Given the description of an element on the screen output the (x, y) to click on. 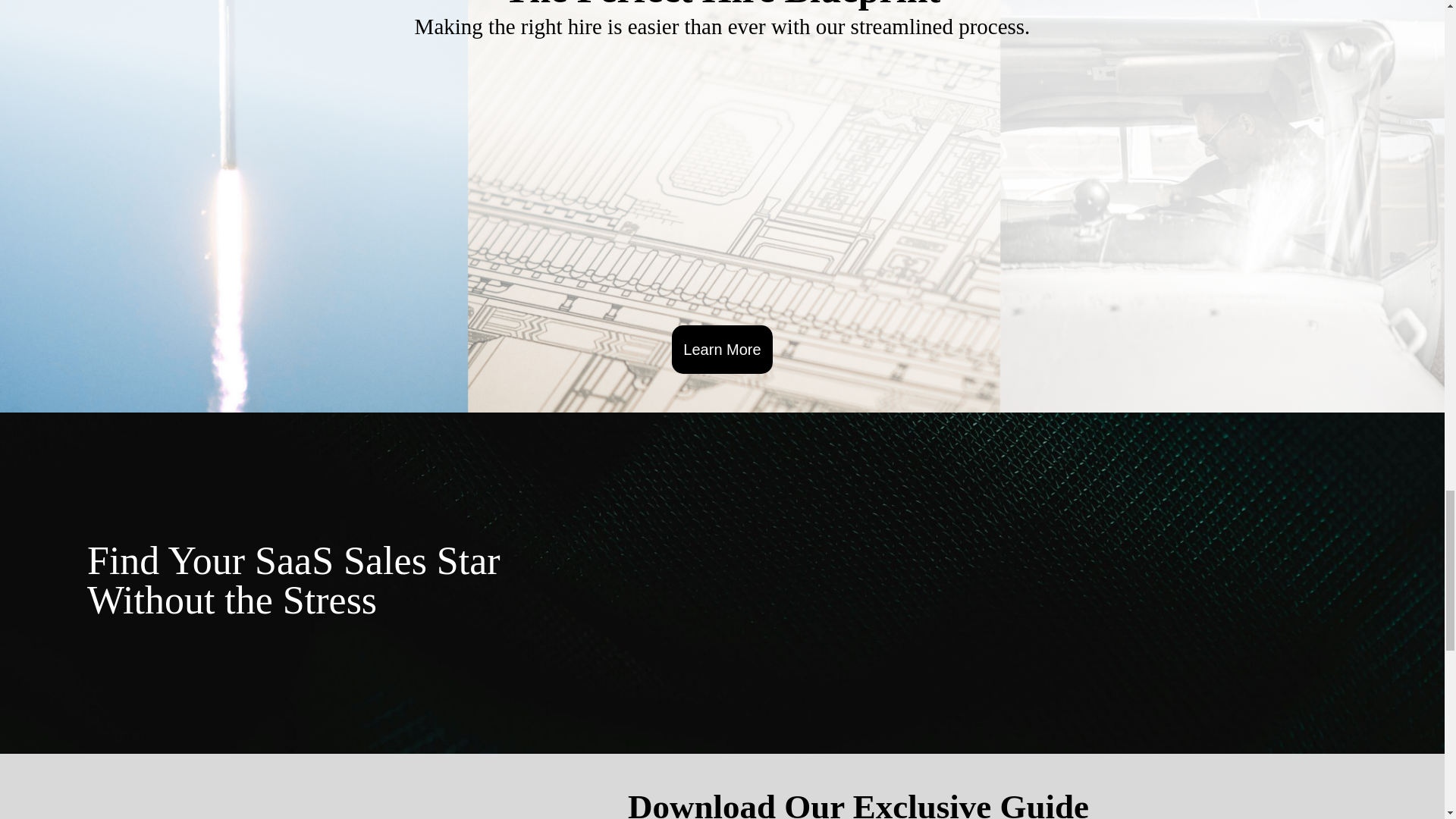
Learn More (721, 349)
